Given the description of an element on the screen output the (x, y) to click on. 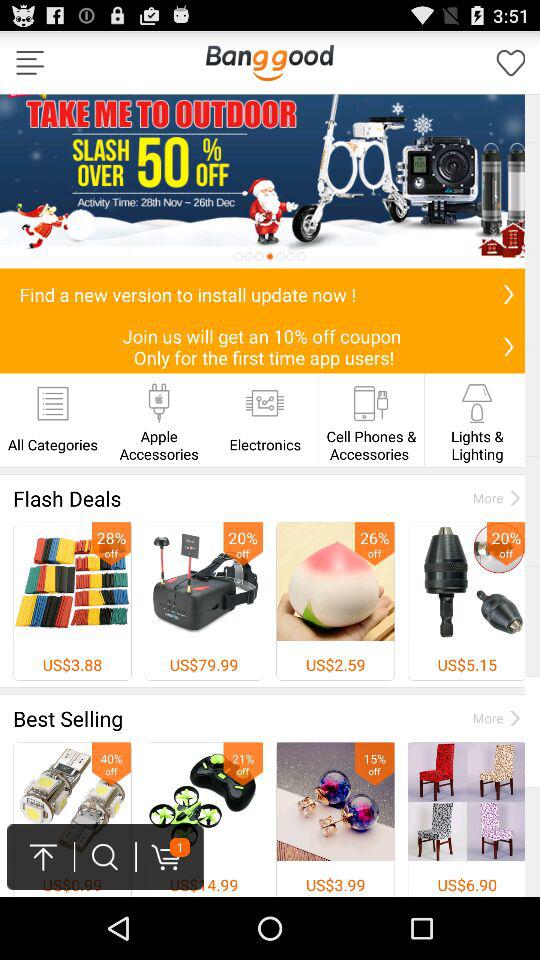
show main menu (29, 62)
